Given the description of an element on the screen output the (x, y) to click on. 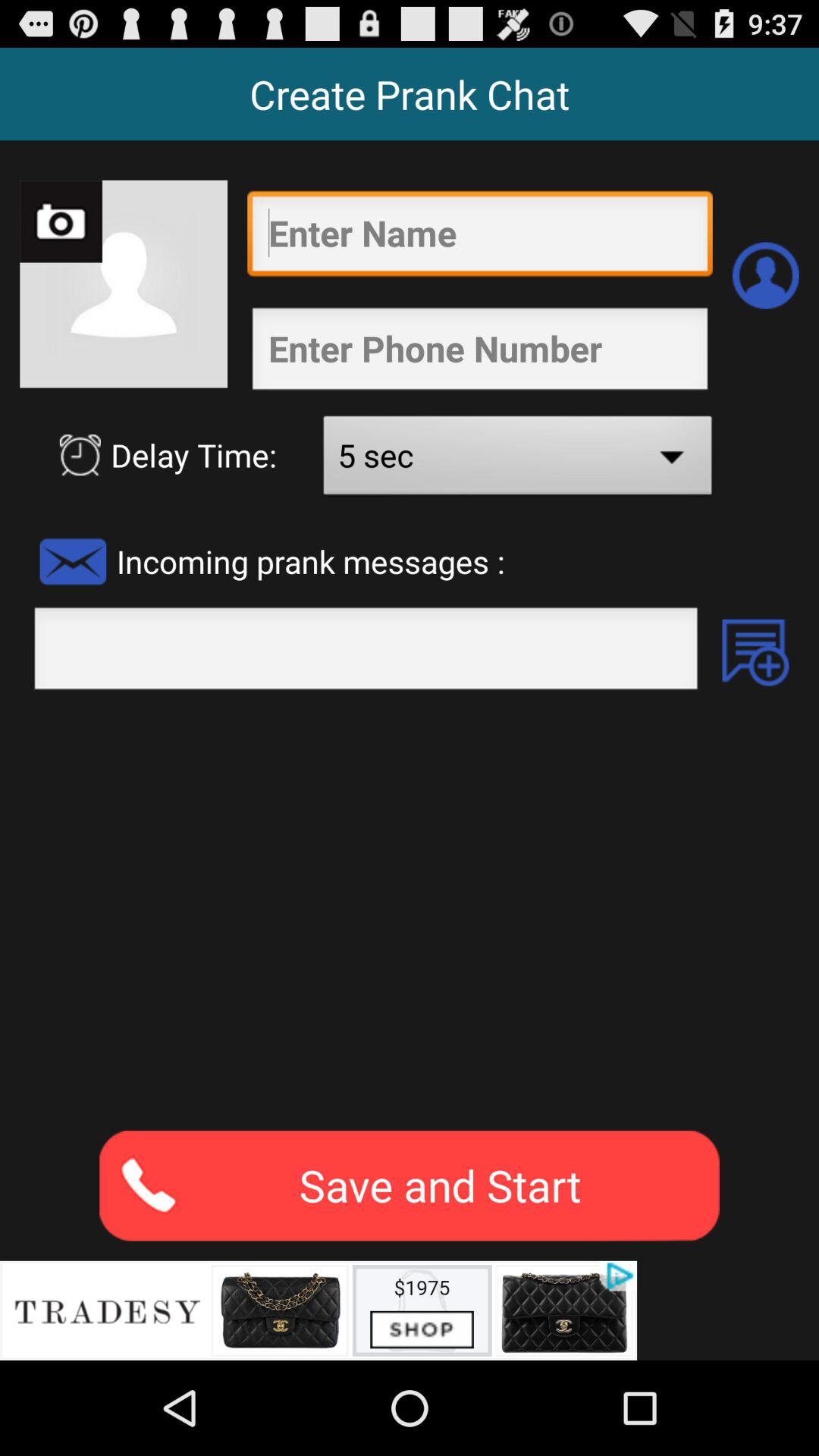
web add (318, 1310)
